Given the description of an element on the screen output the (x, y) to click on. 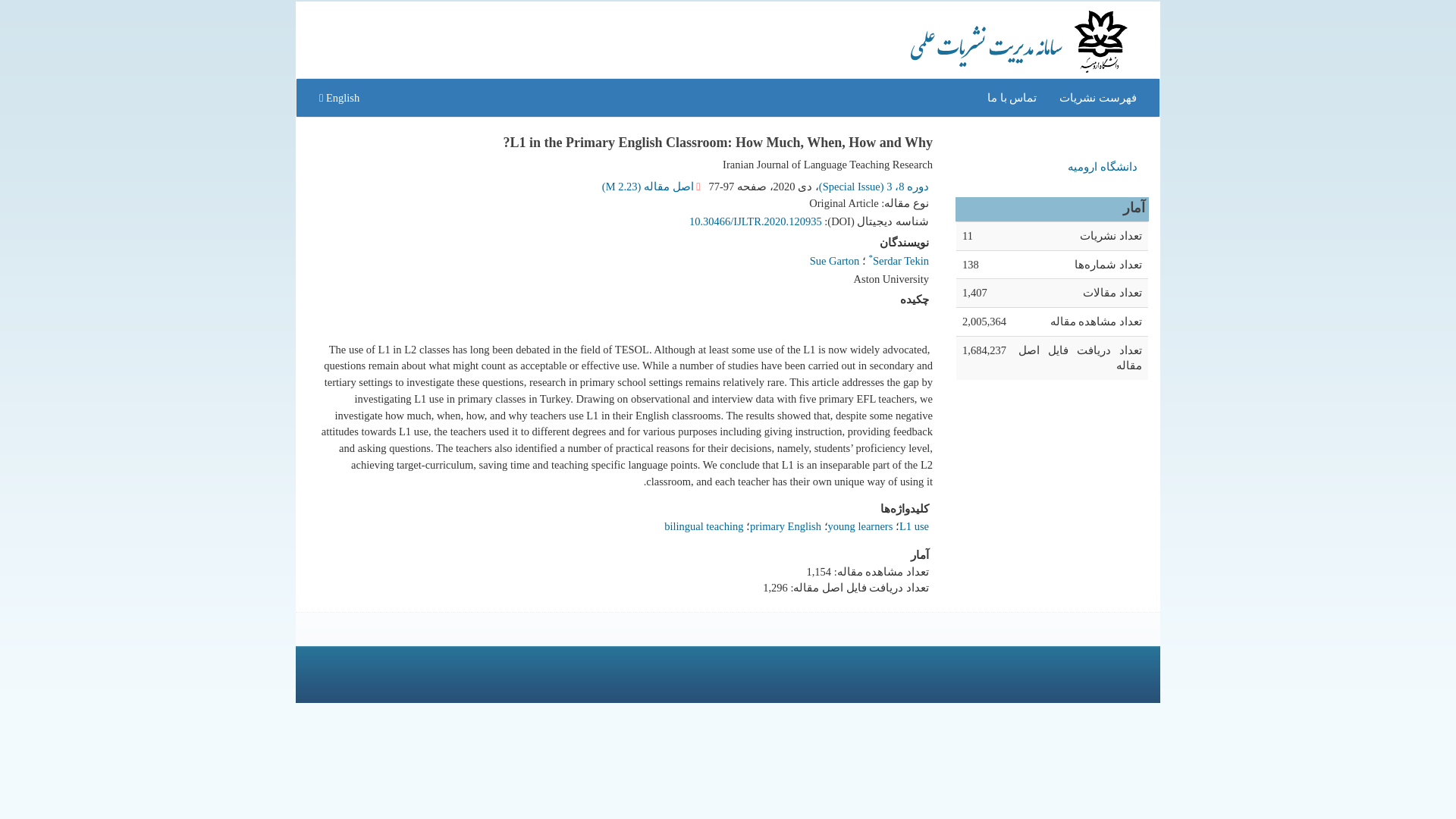
young learners (860, 526)
Sue Garton (834, 260)
L1 use (913, 526)
English (339, 97)
primary English (785, 526)
bilingual teaching (702, 526)
